Given the description of an element on the screen output the (x, y) to click on. 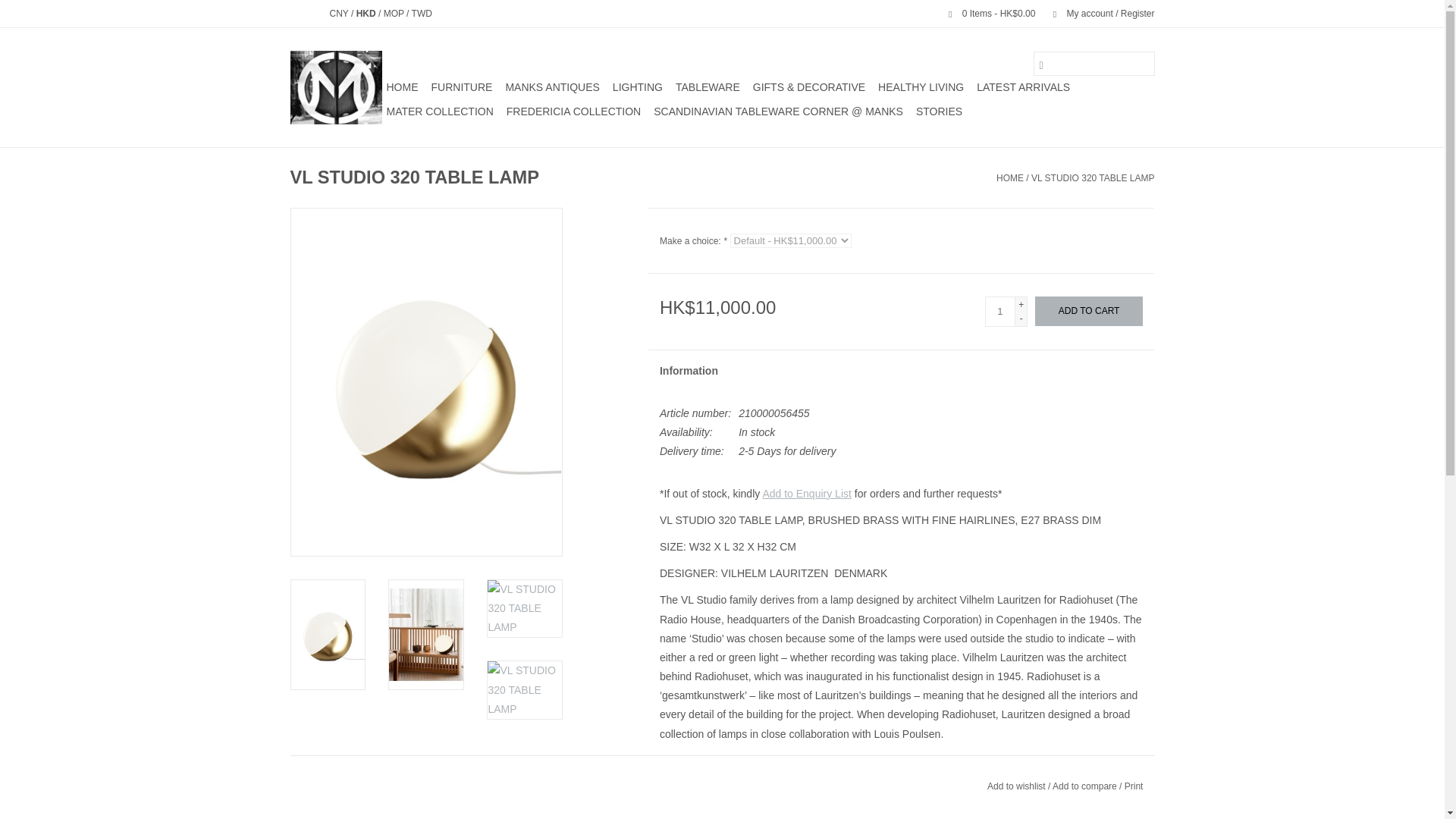
TWD (422, 13)
English (295, 13)
HOME (402, 87)
My account (1096, 13)
mop (395, 13)
cny (339, 13)
FURNITURE (461, 87)
1 (999, 311)
MANKS ANTIQUES (552, 87)
LIGHTING (637, 87)
MOP (395, 13)
CNY (339, 13)
en (295, 13)
Cart (985, 13)
twd (422, 13)
